Given the description of an element on the screen output the (x, y) to click on. 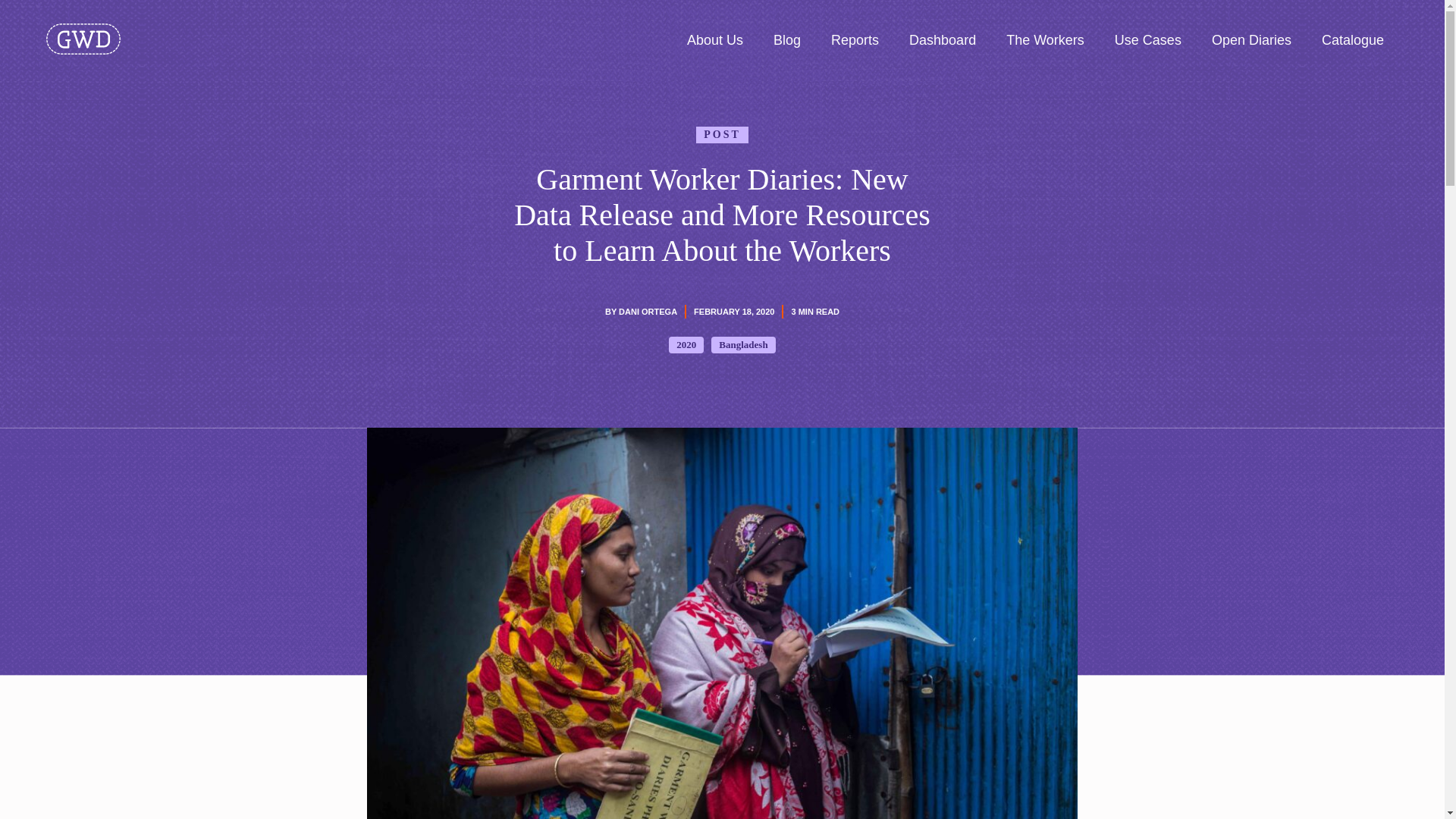
Reports (855, 39)
Blog (786, 39)
Dashboard (941, 39)
Use Cases (1147, 39)
Catalogue (1353, 39)
The Workers (1045, 39)
Open Diaries (1251, 39)
About Us (714, 39)
